Given the description of an element on the screen output the (x, y) to click on. 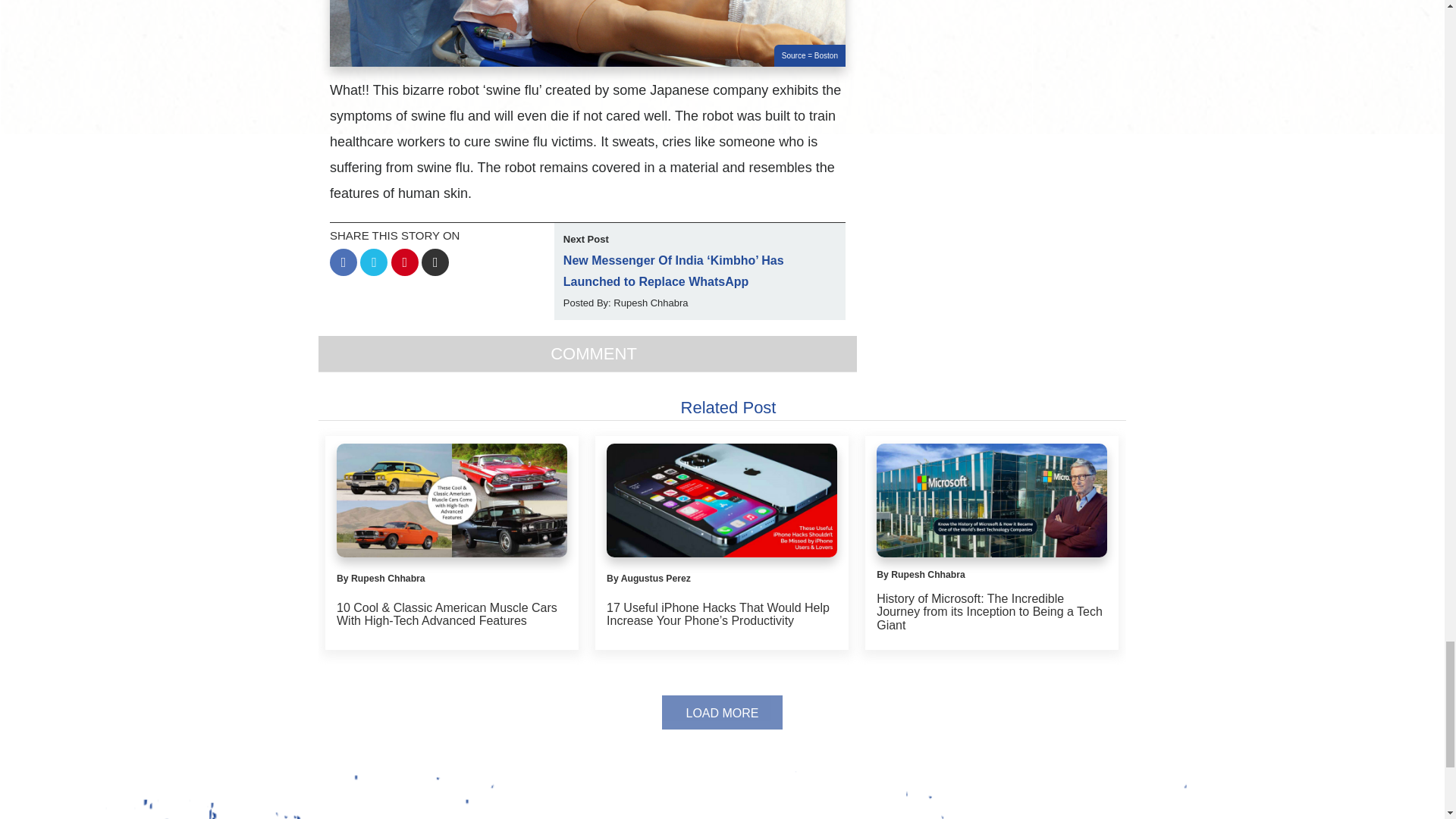
LOAD MORE (721, 712)
